Given the description of an element on the screen output the (x, y) to click on. 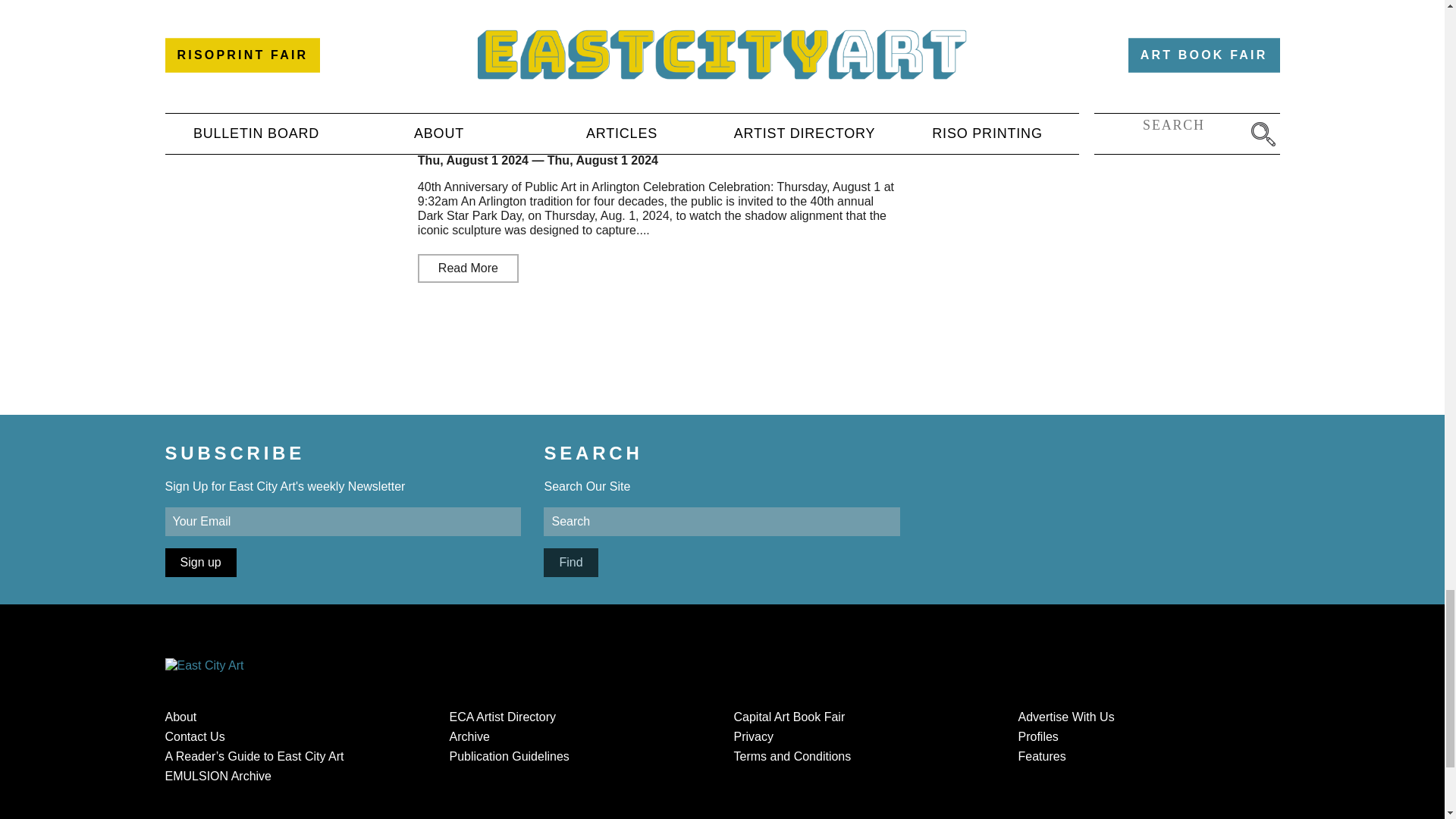
Find (569, 562)
Sign up (200, 562)
